Given the description of an element on the screen output the (x, y) to click on. 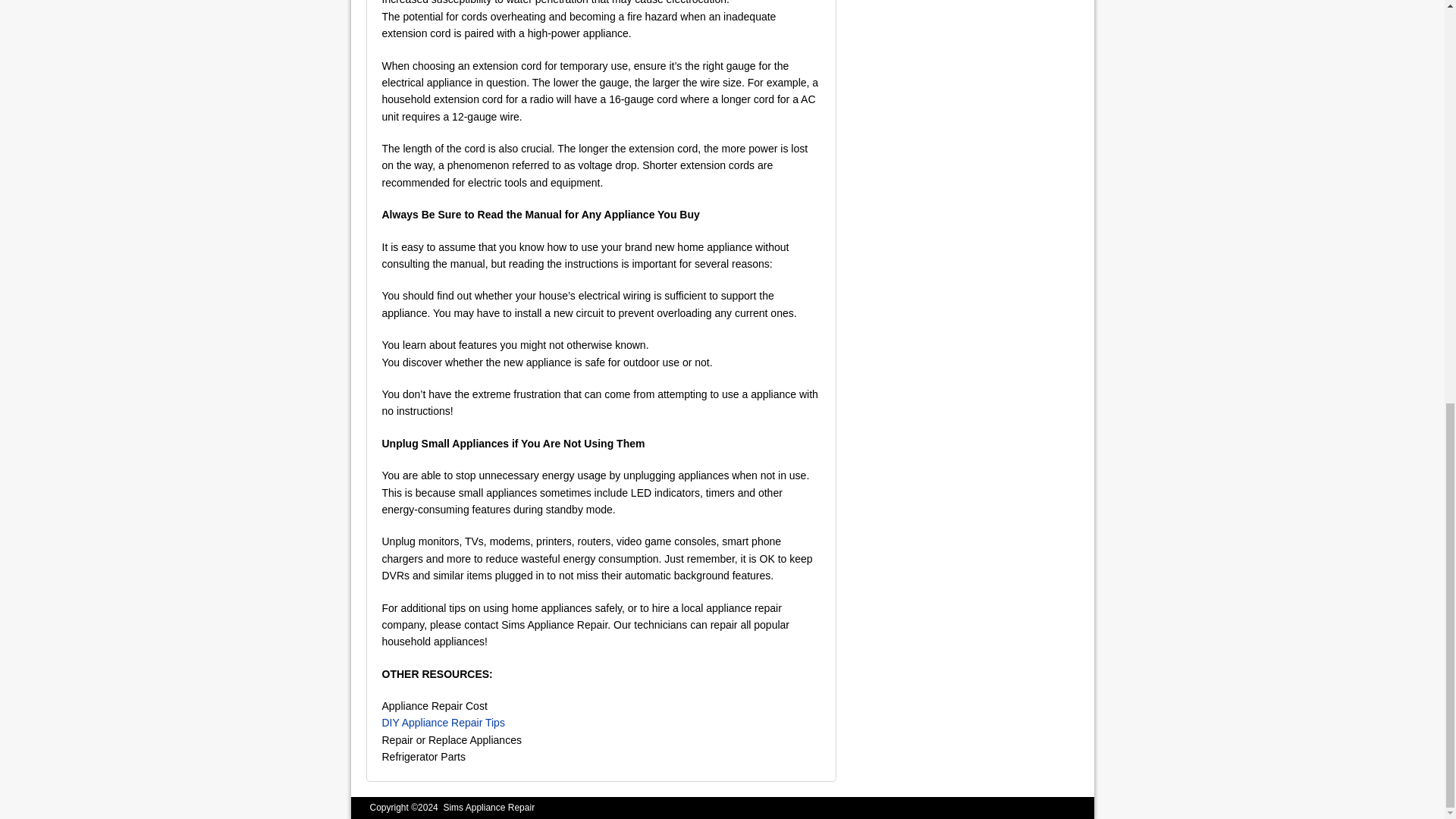
DIY Appliance Repair Tips (443, 722)
